Given the description of an element on the screen output the (x, y) to click on. 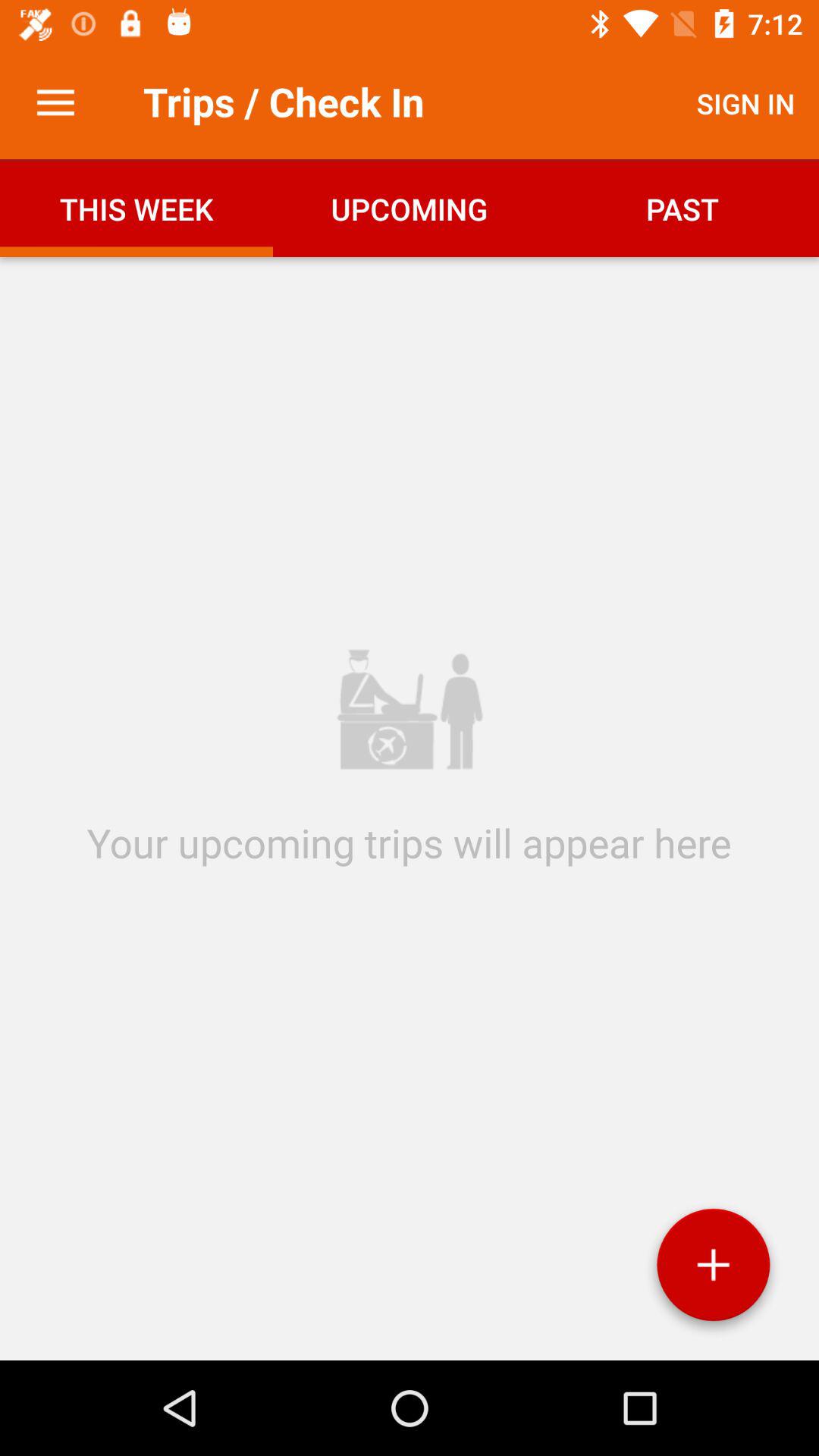
open the icon to the right of trips / check in item (745, 103)
